Given the description of an element on the screen output the (x, y) to click on. 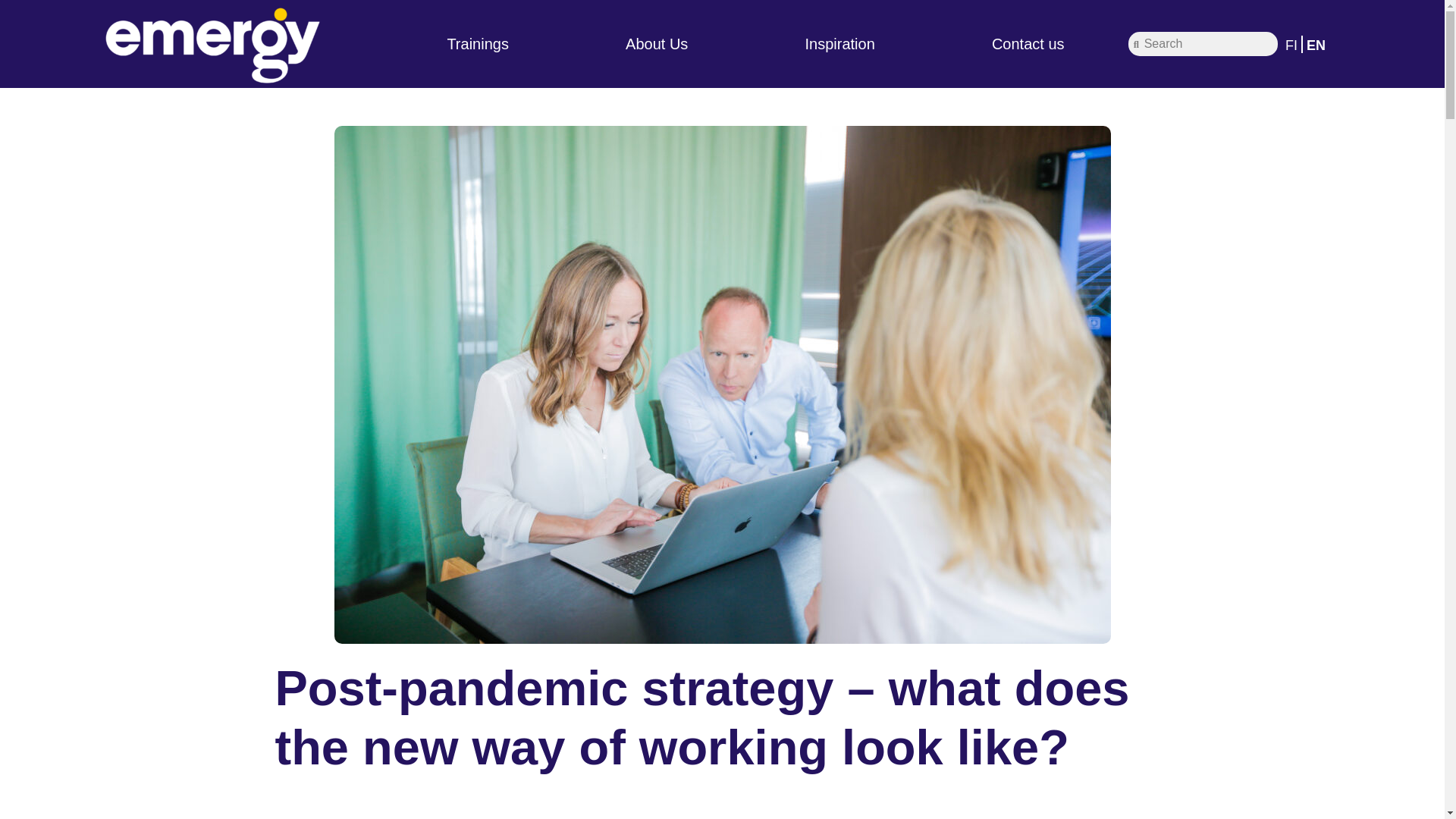
Inspiration (839, 43)
About Us (656, 43)
EN (1315, 44)
Trainings (478, 43)
Contact us (1027, 43)
